Given the description of an element on the screen output the (x, y) to click on. 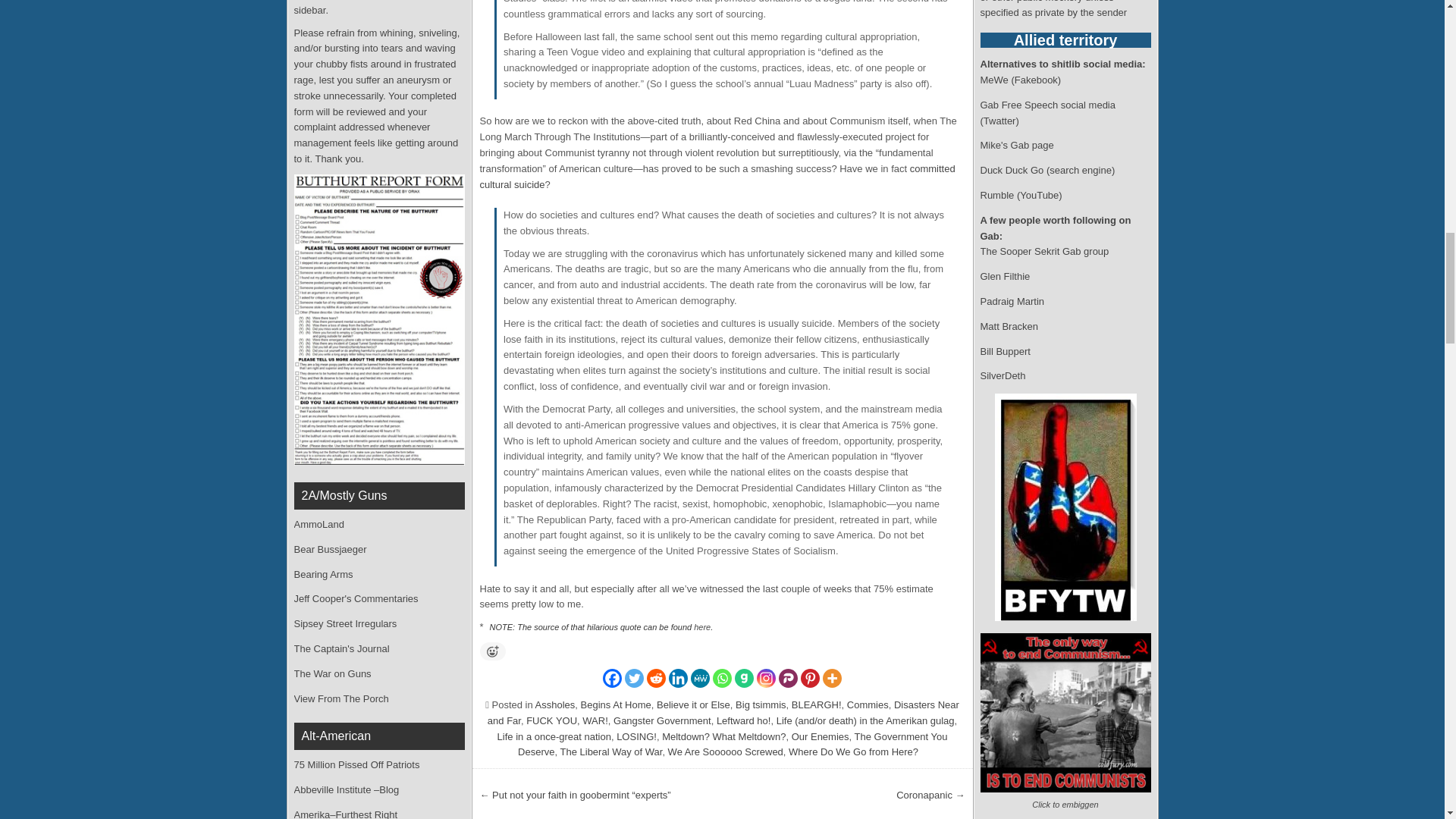
MeWe (700, 678)
More (831, 678)
Gab (744, 678)
Whatsapp (722, 678)
Reddit (655, 678)
Linkedin (677, 678)
Twitter (633, 678)
Instagram (766, 678)
More truth (702, 626)
Pinterest (809, 678)
